Given the description of an element on the screen output the (x, y) to click on. 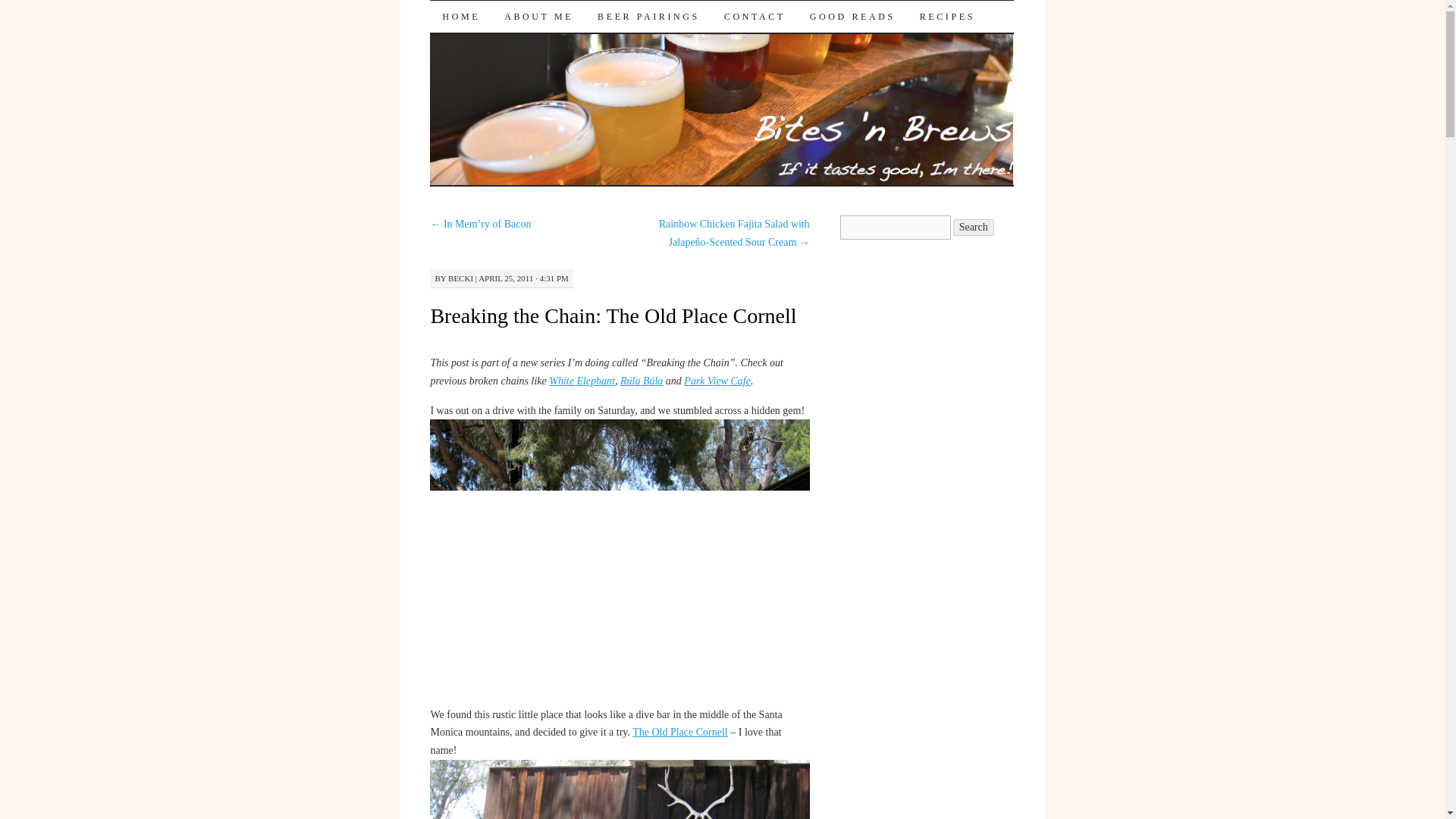
BECKI (460, 277)
HOME (460, 16)
Bites 'n Brews (521, 26)
Bites 'n Brews (521, 26)
BEER PAIRINGS (648, 16)
ABOUT ME (538, 16)
AM2 (619, 789)
Park View Cafe (717, 380)
RECIPES (947, 16)
GOOD READS (852, 16)
The Old Place Cornell (679, 731)
CONTACT (754, 16)
White Elephant (581, 380)
Breaking the Chain: The Old Place Cornell (612, 315)
Search (973, 227)
